Given the description of an element on the screen output the (x, y) to click on. 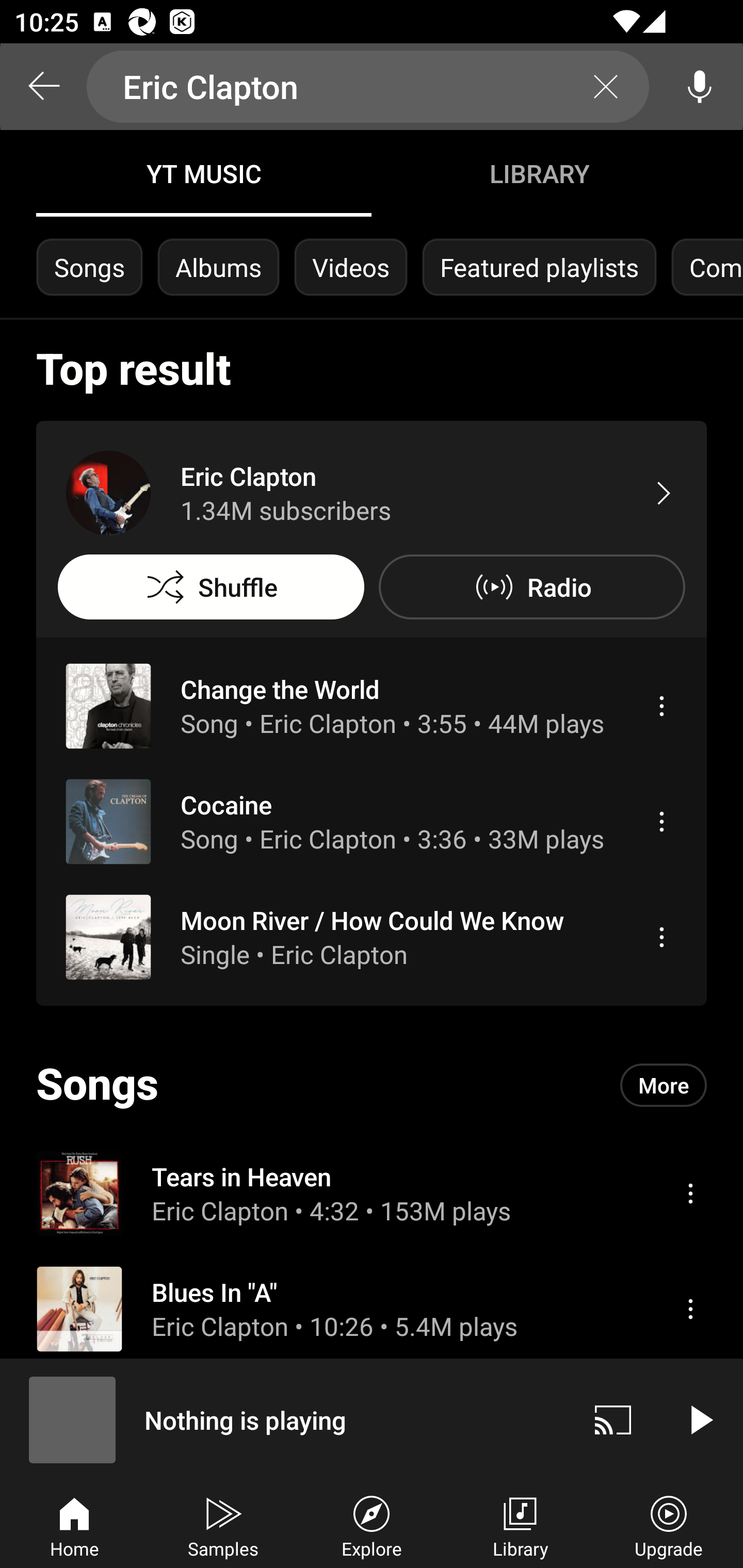
Search back (43, 86)
Eric Clapton (367, 86)
Clear search (605, 86)
Voice search (699, 86)
Library LIBRARY (538, 173)
Shuffle (210, 587)
Radio (531, 587)
Menu (661, 705)
Menu (661, 821)
Menu (661, 937)
Songs More More (371, 1084)
More (663, 1085)
Menu (690, 1193)
Menu (690, 1309)
Nothing is playing (284, 1419)
Cast. Disconnected (612, 1419)
Play video (699, 1419)
Home (74, 1524)
Samples (222, 1524)
Explore (371, 1524)
Library (519, 1524)
Upgrade (668, 1524)
